Given the description of an element on the screen output the (x, y) to click on. 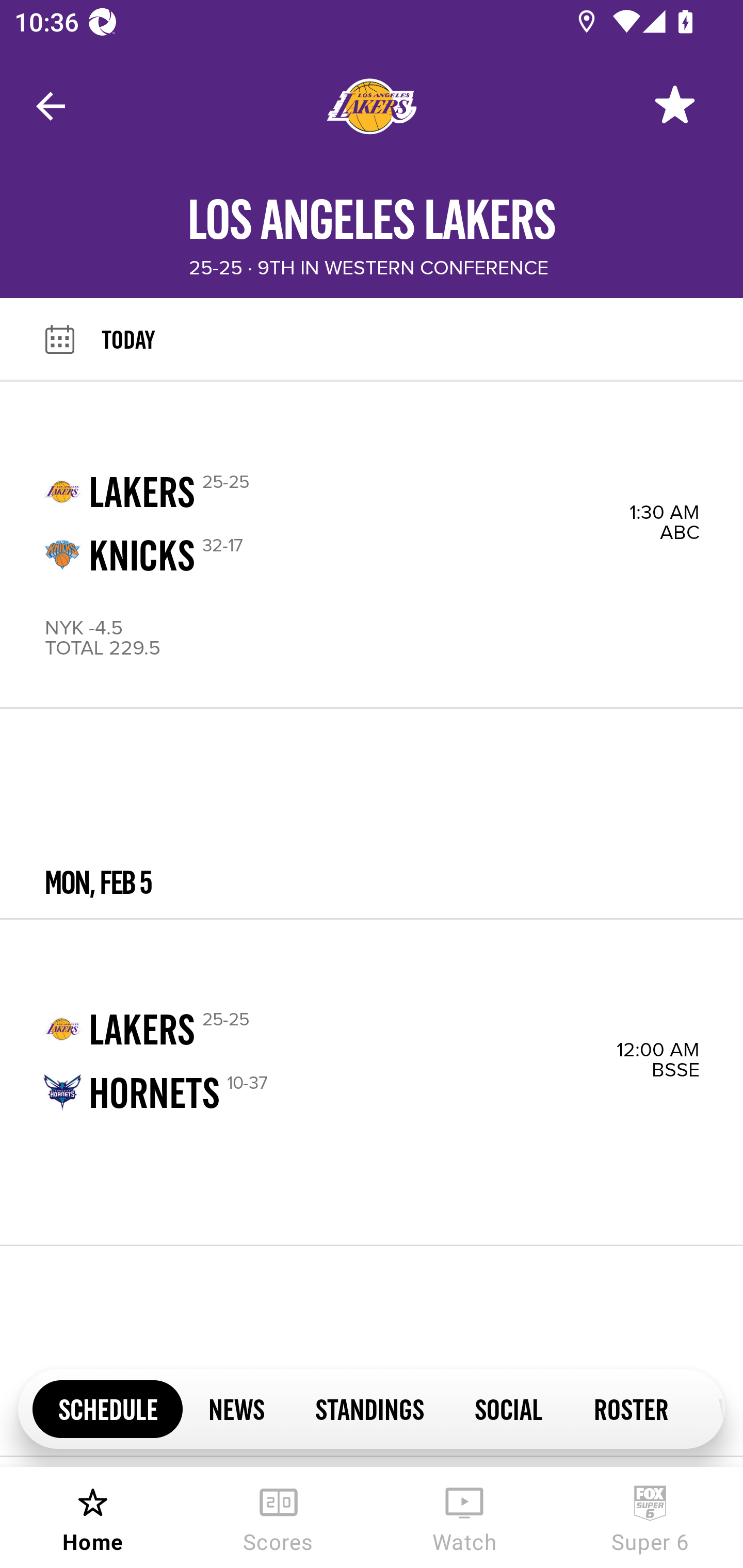
Navigate up (50, 106)
25-25 · 9TH IN WESTERN CONFERENCE (368, 267)
TODAY (422, 339)
MON, FEB 5 (371, 813)
LAKERS 25-25 12:00 AM HORNETS 10-37 BSSE (371, 1082)
NEWS (235, 1408)
STANDINGS (369, 1408)
SOCIAL (508, 1408)
ROSTER (630, 1408)
Scores (278, 1517)
Watch (464, 1517)
Super 6 (650, 1517)
